Given the description of an element on the screen output the (x, y) to click on. 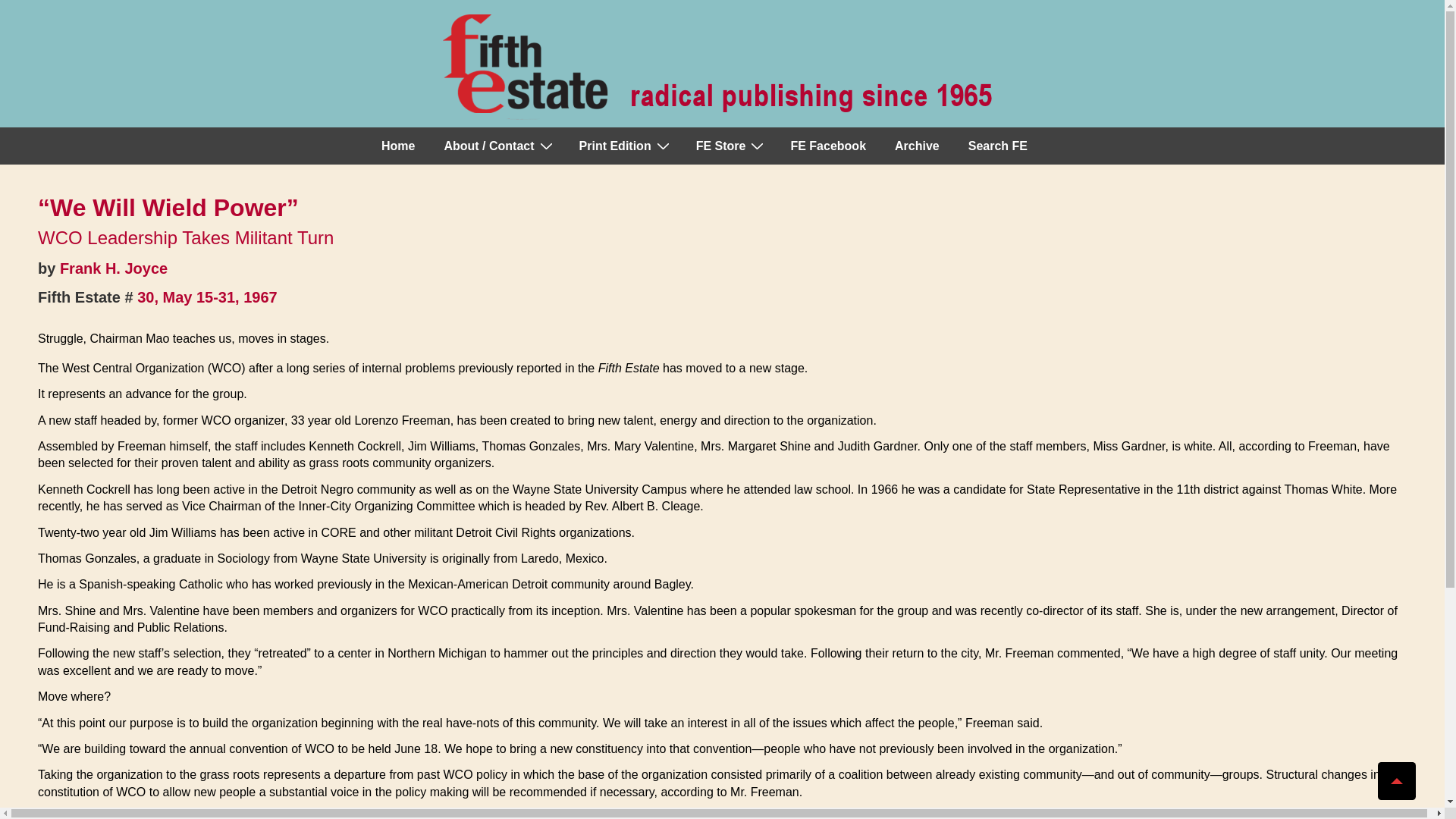
Recordings (729, 145)
Archive (916, 145)
Frank H. Joyce (113, 268)
Search FE (998, 145)
Print Edition (623, 145)
Home (398, 145)
30, May 15-31, 1967 (207, 297)
FE Facebook (827, 145)
Top (1396, 781)
Scroll to Top (1396, 781)
